Given the description of an element on the screen output the (x, y) to click on. 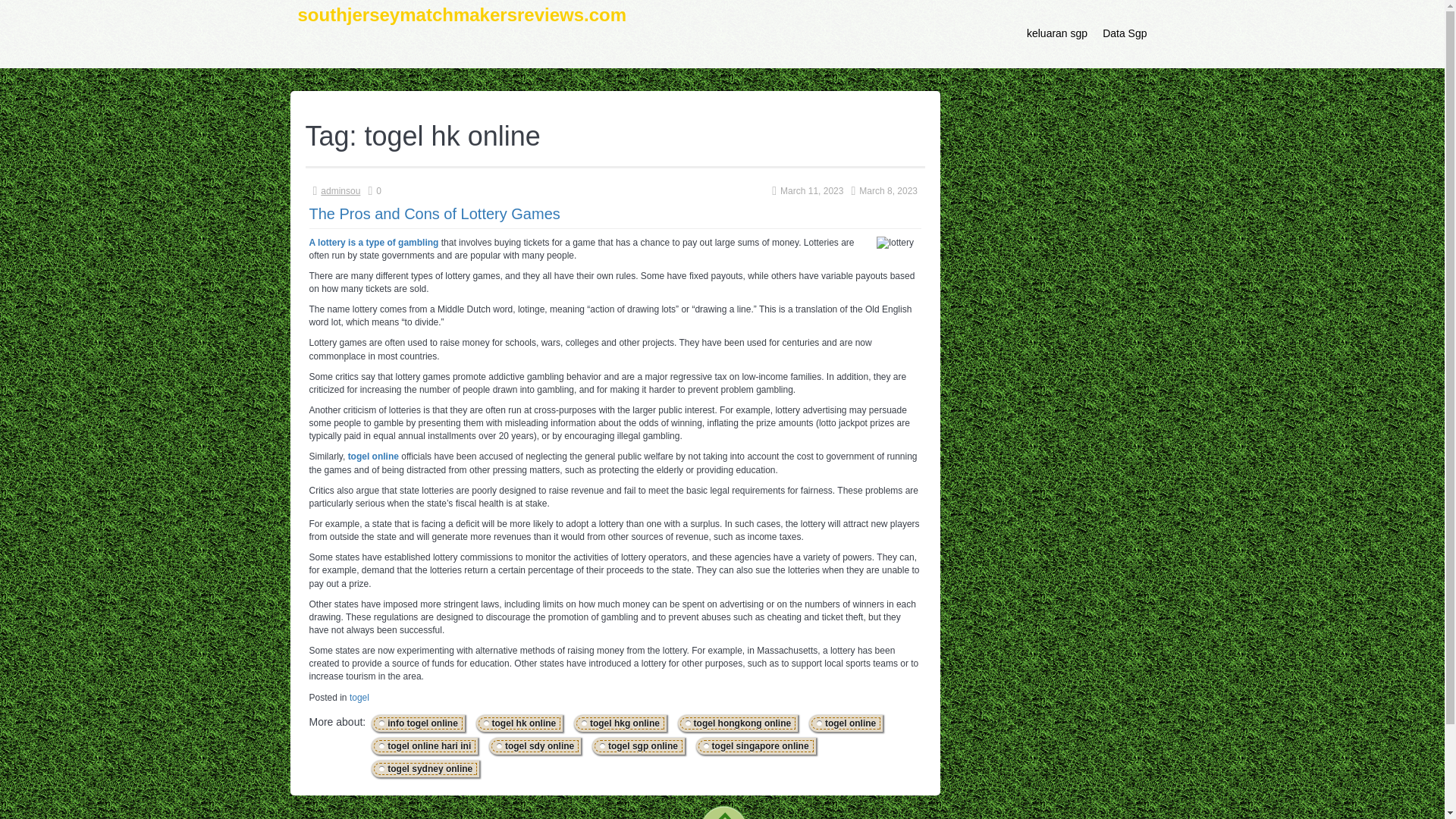
The Pros and Cons of Lottery Games (434, 213)
togel (359, 697)
TO TOP (723, 809)
togel singapore online (755, 746)
keluaran sgp (1056, 33)
togel online (845, 723)
togel hongkong online (737, 723)
togel sgp online (638, 746)
southjerseymatchmakersreviews.com (461, 33)
keluaran sgp (1056, 33)
